Given the description of an element on the screen output the (x, y) to click on. 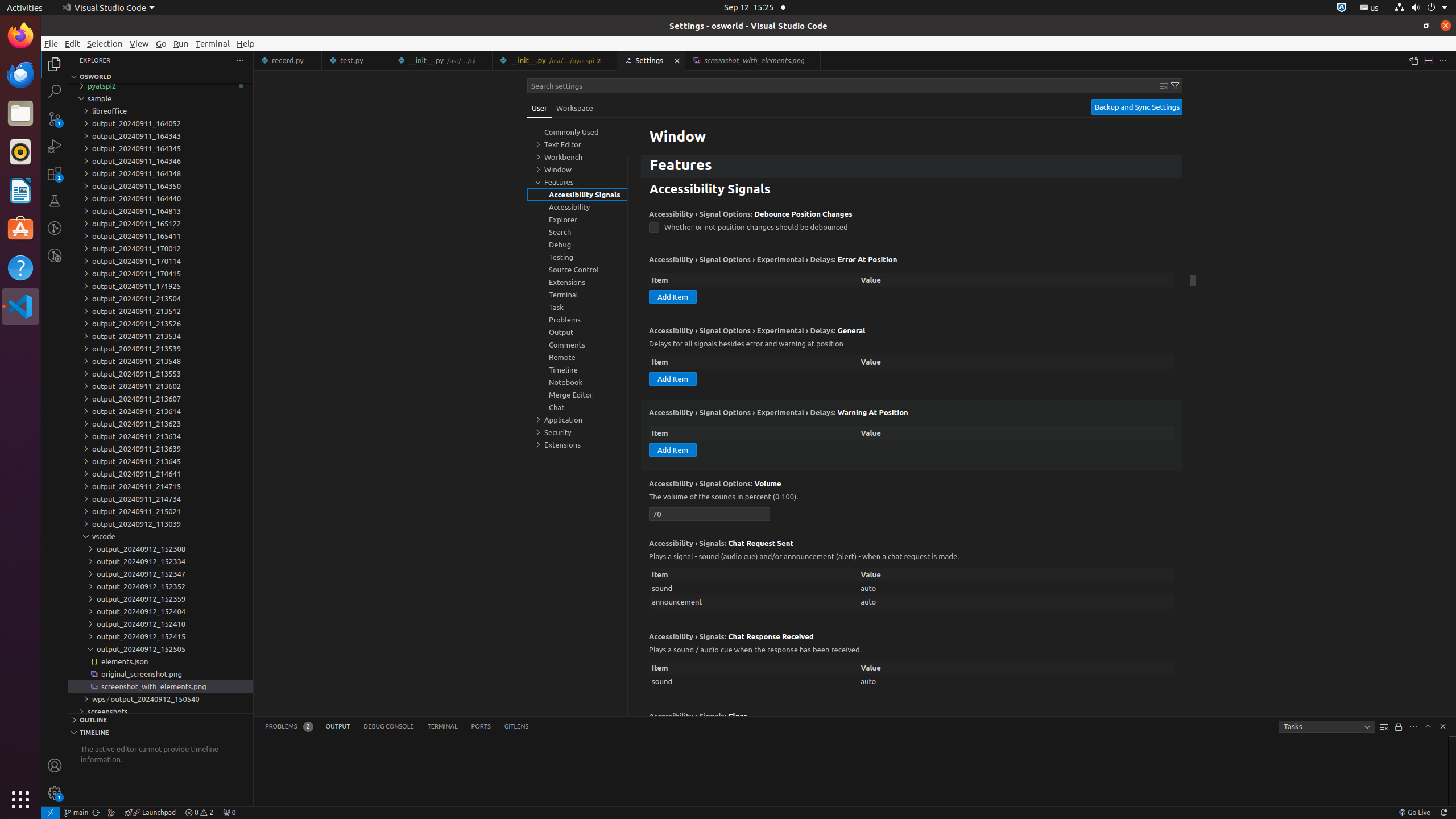
output_20240911_170114 Element type: tree-item (160, 260)
Security, group Element type: tree-item (577, 431)
Terminal Element type: push-button (212, 43)
output_20240912_152352 Element type: tree-item (160, 586)
